Given the description of an element on the screen output the (x, y) to click on. 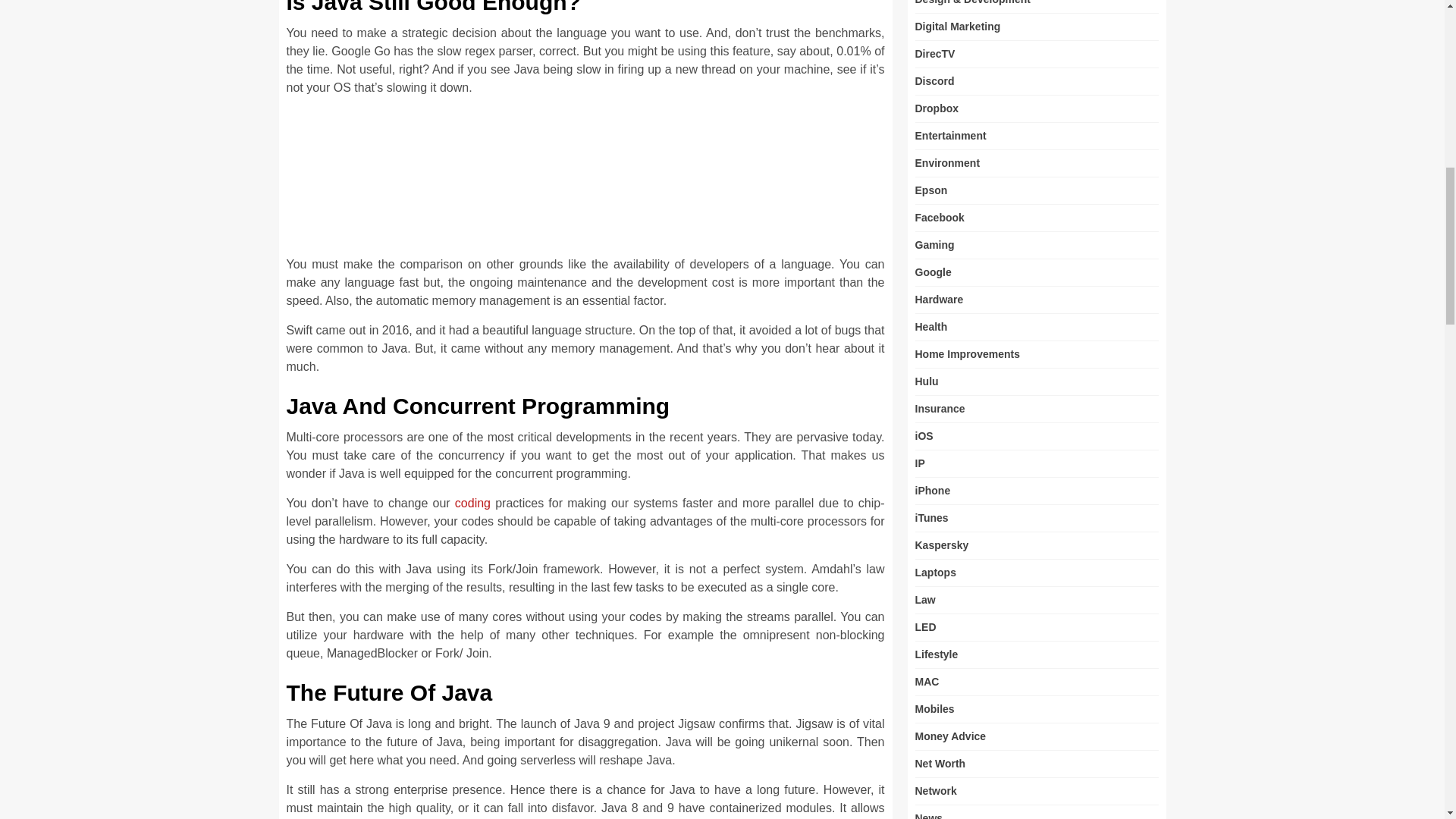
coding (472, 502)
